Given the description of an element on the screen output the (x, y) to click on. 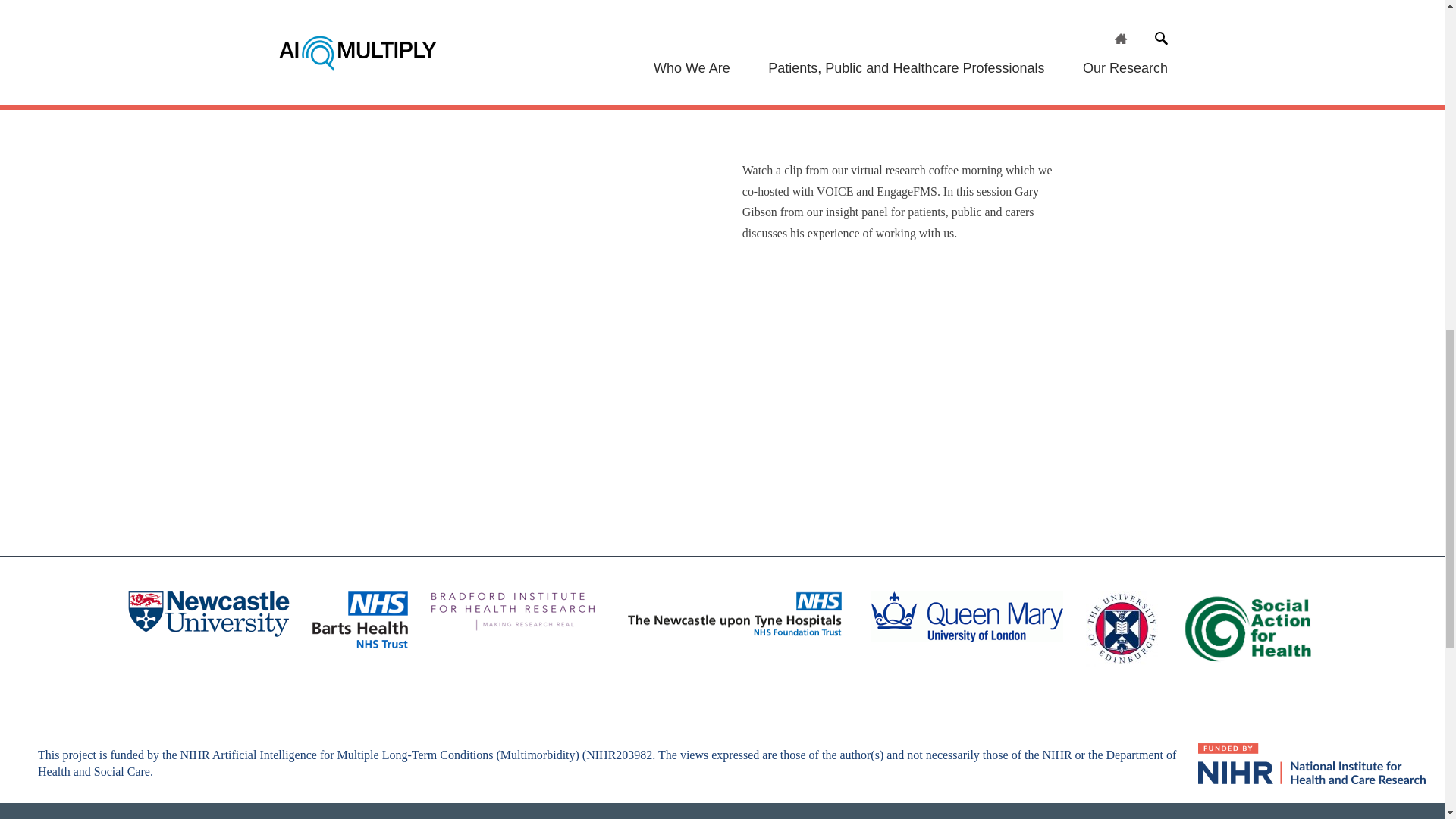
Research Champions (429, 63)
RDS NENC Public Involvement Consumer Panel (498, 38)
NIHR BioResource Volunteer (448, 12)
